Given the description of an element on the screen output the (x, y) to click on. 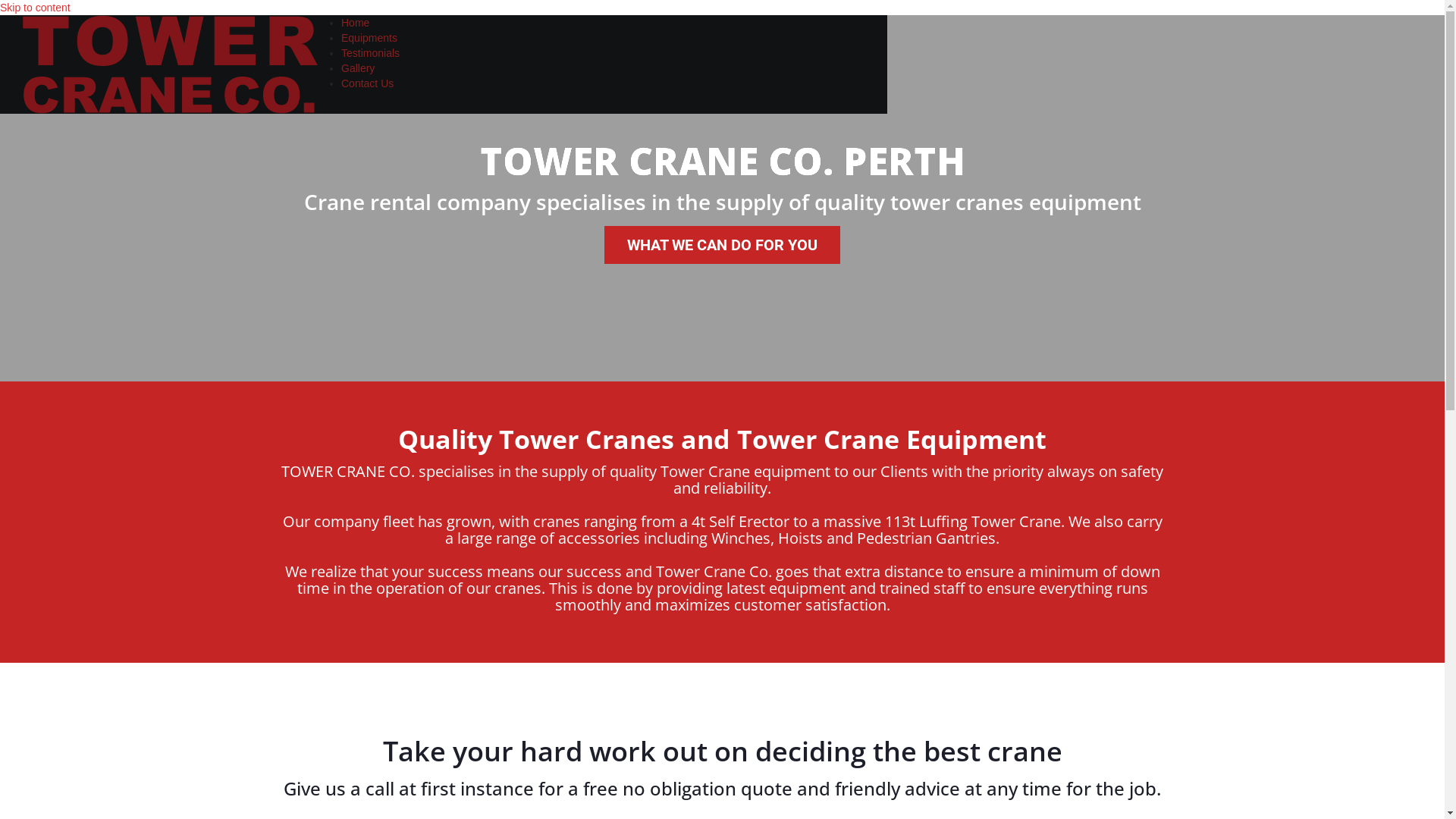
Equipments Element type: text (369, 37)
WHAT WE CAN DO FOR YOU Element type: text (722, 244)
Gallery Element type: text (357, 68)
Contact Us Element type: text (367, 83)
Tower Crane Rental Perth Element type: hover (169, 63)
Skip to content Element type: text (35, 7)
Testimonials Element type: text (370, 53)
Home Element type: text (355, 22)
